Given the description of an element on the screen output the (x, y) to click on. 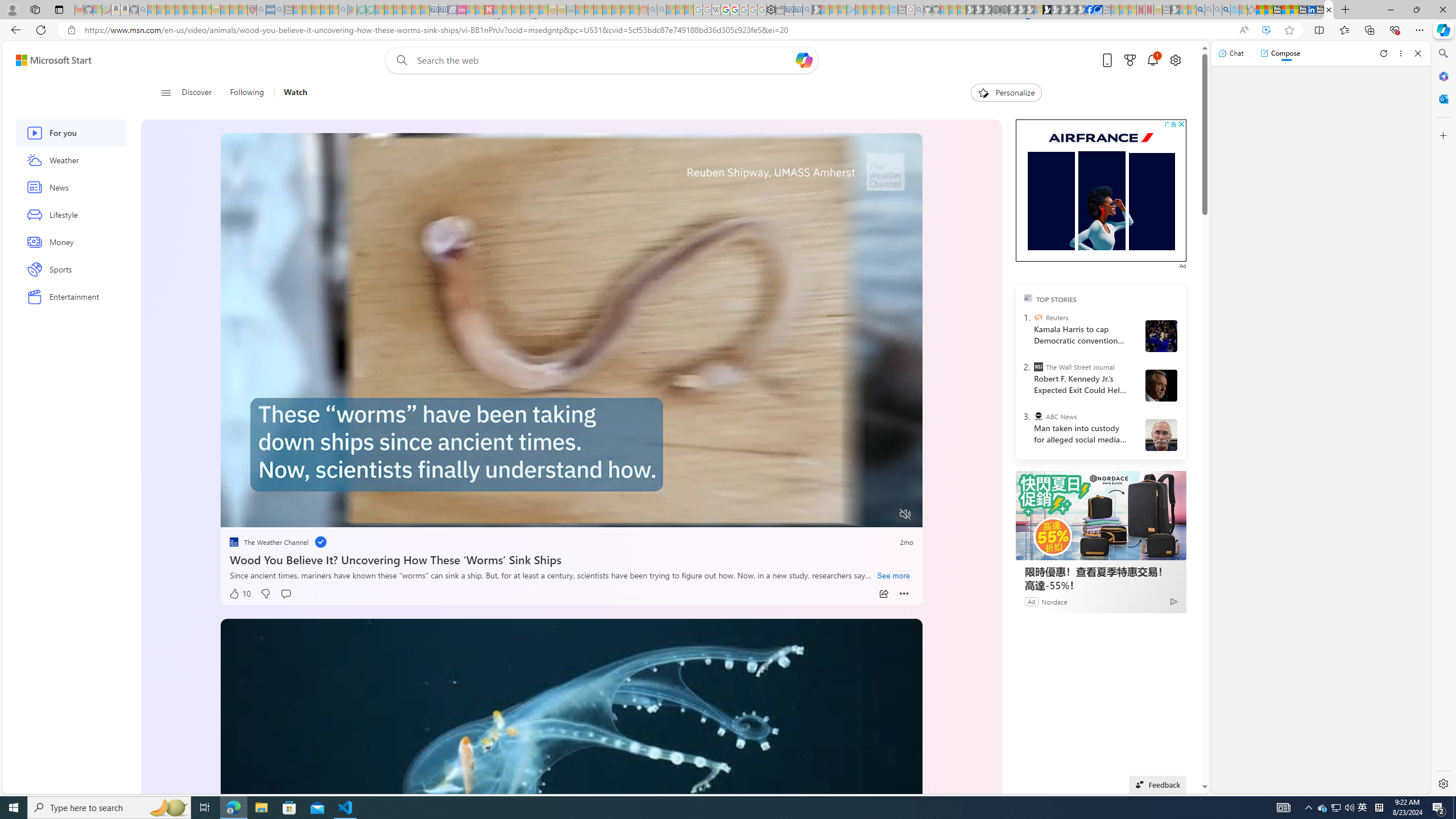
Quality Settings (838, 514)
10 Like (240, 593)
placeholder The Weather Channel (269, 542)
Seek Forward (283, 514)
14 Common Myths Debunked By Scientific Facts - Sleeping (506, 9)
